Given the description of an element on the screen output the (x, y) to click on. 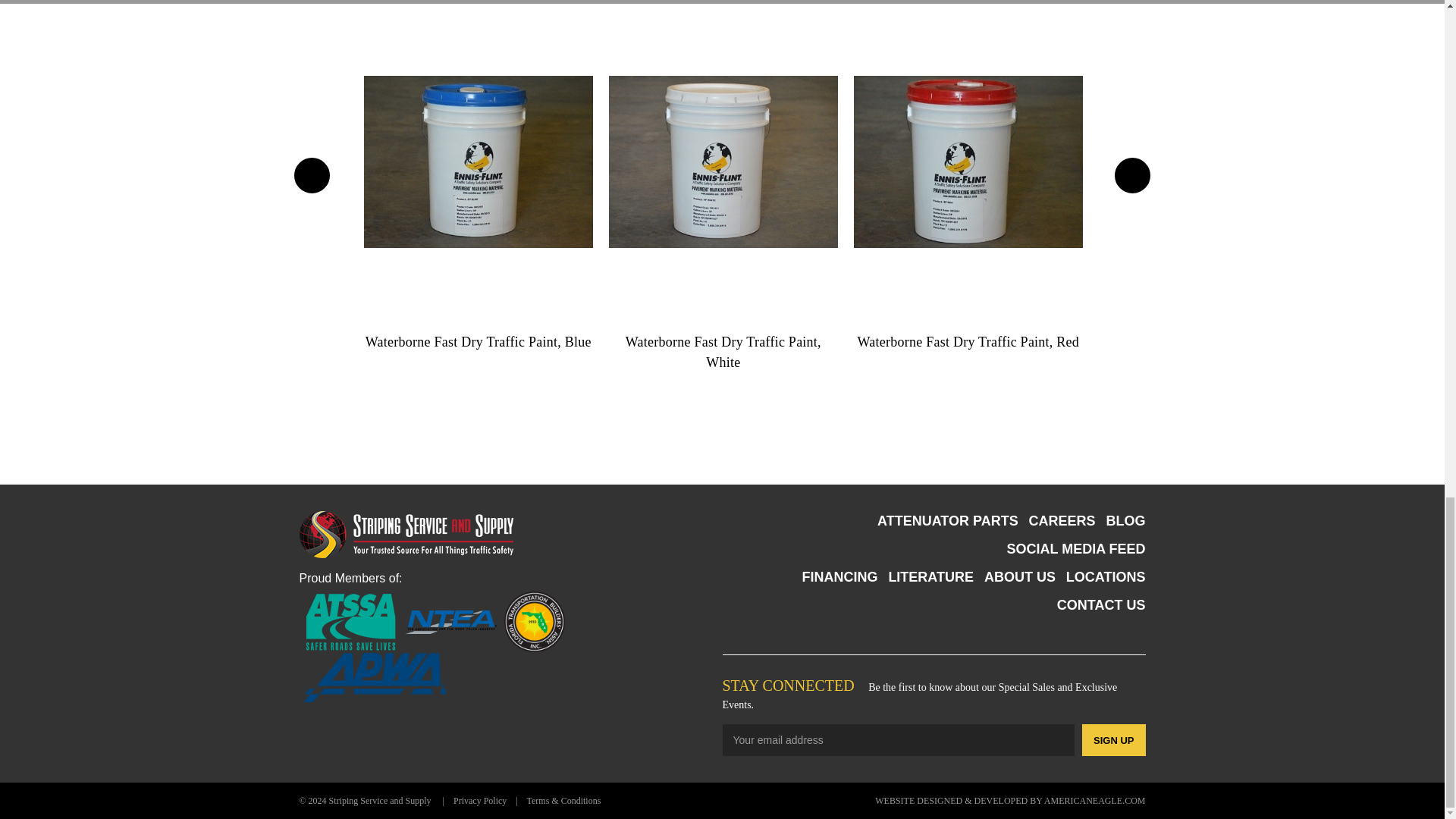
Waterborne Fast Dry Traffic Paint, Red (968, 162)
Waterborne Fast Dry Traffic Paint, White (723, 162)
Waterborne Fast Dry Traffic Paint, Blue (478, 162)
Sign up (1112, 739)
